Given the description of an element on the screen output the (x, y) to click on. 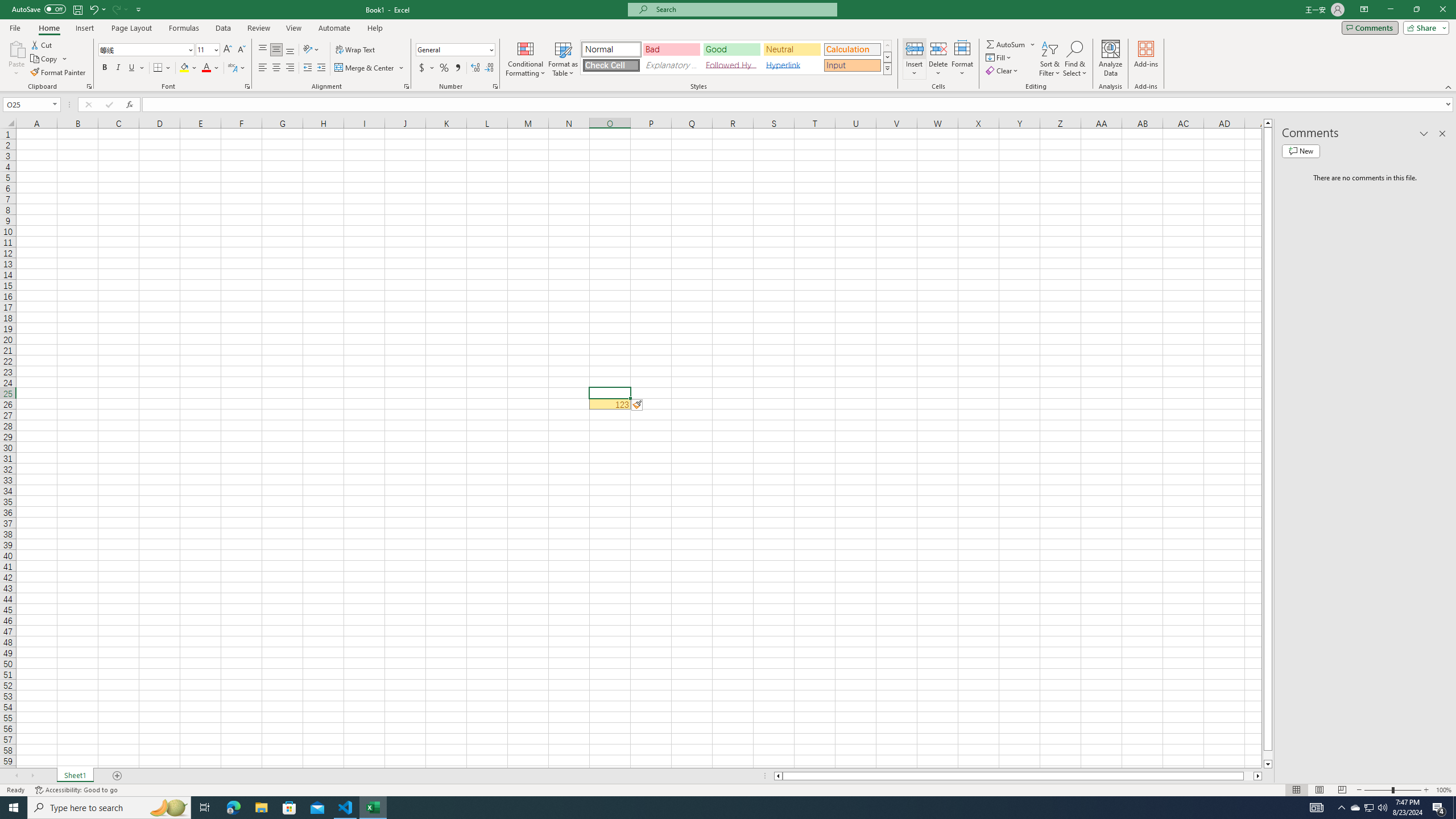
Quick Access Toolbar (77, 9)
AutoSave (38, 9)
Formulas (184, 28)
Office Clipboard... (88, 85)
Close pane (1441, 133)
Italic (118, 67)
Accessibility Checker Accessibility: Good to go (76, 790)
Delete Cells... (938, 48)
Fill Color (188, 67)
Analyze Data (1110, 58)
Automate (334, 28)
Bottom Border (157, 67)
Increase Indent (320, 67)
Cell Styles (887, 68)
